Given the description of an element on the screen output the (x, y) to click on. 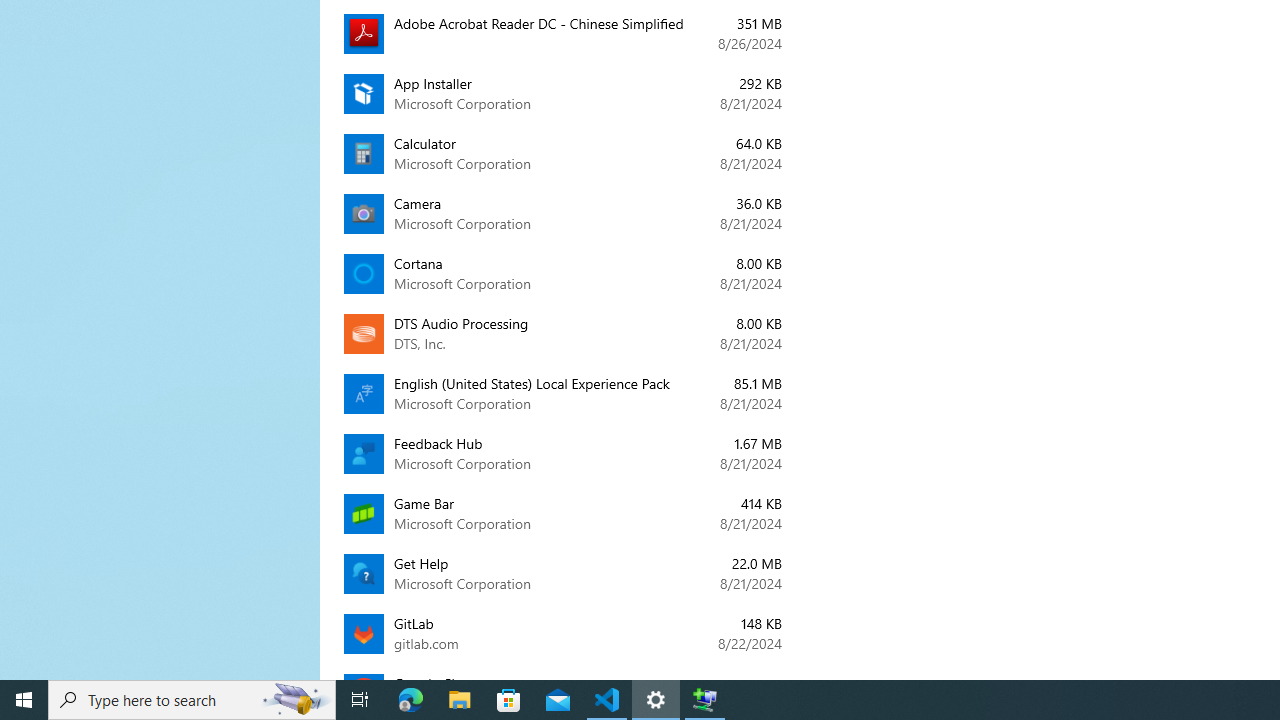
Task View (359, 699)
File Explorer (460, 699)
Extensible Wizards Host Process - 1 running window (704, 699)
Microsoft Edge (411, 699)
Search highlights icon opens search home window (295, 699)
Visual Studio Code - 1 running window (607, 699)
Type here to search (191, 699)
